Given the description of an element on the screen output the (x, y) to click on. 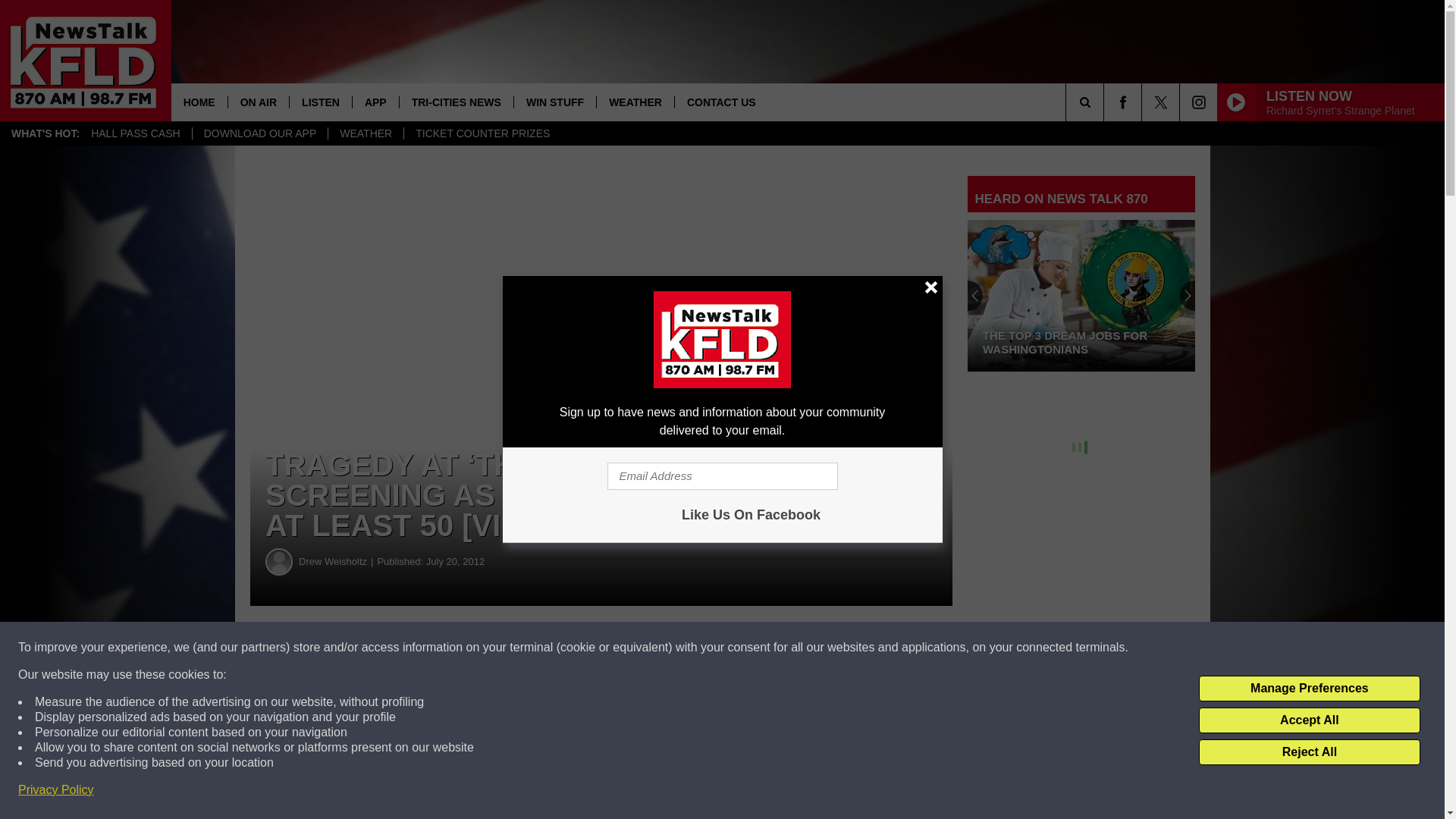
TICKET COUNTER PRIZES (481, 133)
LISTEN (320, 102)
DOWNLOAD OUR APP (260, 133)
HOME (199, 102)
Share on Facebook (460, 647)
SEARCH (1106, 102)
HALL PASS CASH (136, 133)
SEARCH (1106, 102)
ON AIR (257, 102)
Email Address (722, 475)
WIN STUFF (554, 102)
Share on Twitter (741, 647)
APP (375, 102)
TRI-CITIES NEWS (455, 102)
Privacy Policy (55, 789)
